Given the description of an element on the screen output the (x, y) to click on. 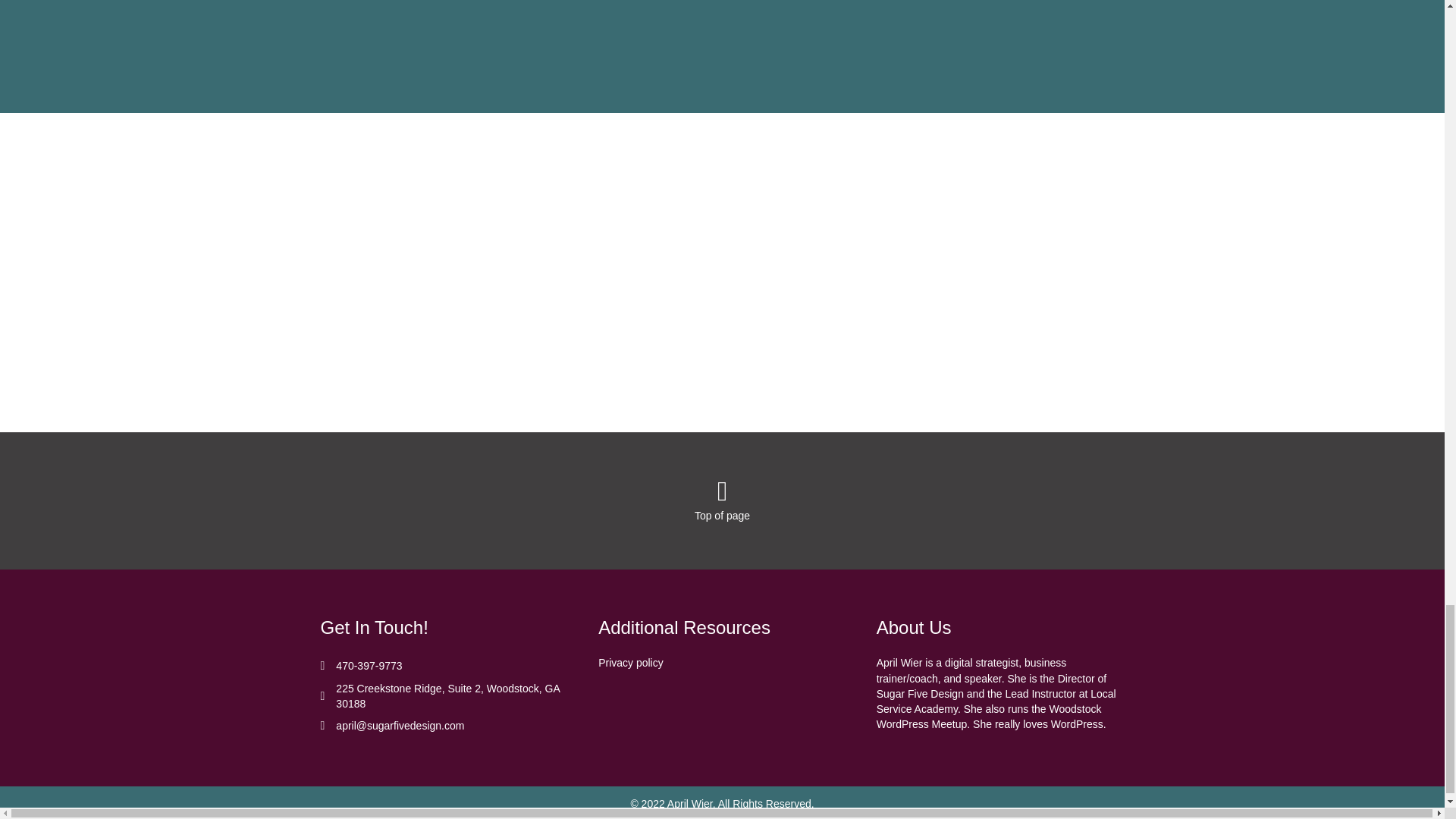
Sugar Five Design (919, 693)
225 Creekstone Ridge, Suite 2, Woodstock, GA 30188 (451, 695)
470-397-9773 (368, 665)
Local Service Academy (996, 700)
Privacy policy (630, 662)
Woodstock WordPress Meetup (989, 716)
